Given the description of an element on the screen output the (x, y) to click on. 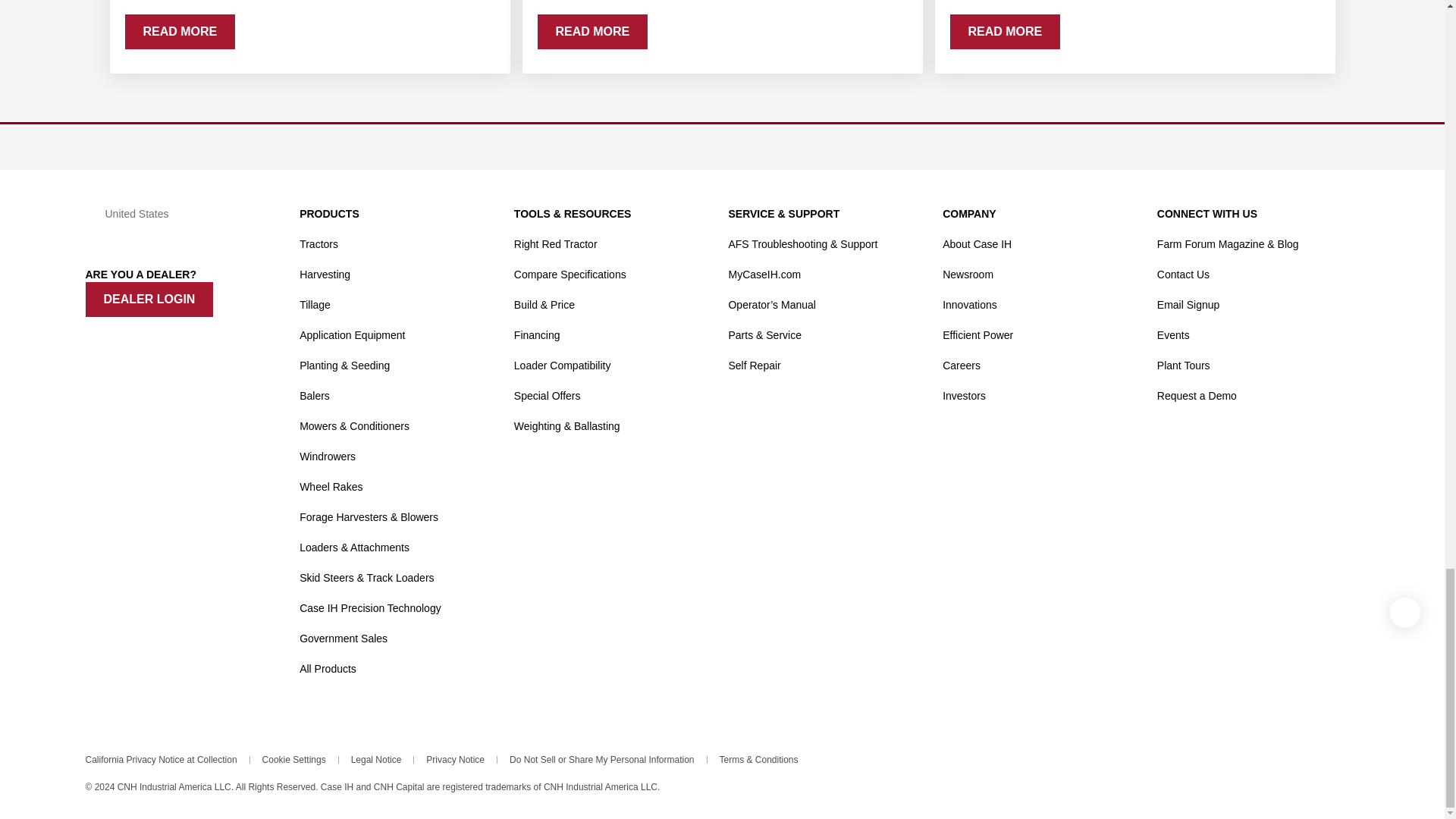
Wheel Rakes (330, 486)
Dealer login (148, 298)
United States (185, 213)
Tillage (314, 304)
READ MORE (1004, 31)
Right Red Tractor (554, 244)
Case IH Precision Technology (370, 607)
PRODUCTS (329, 213)
READ MORE (592, 31)
Government Sales (343, 638)
